Given the description of an element on the screen output the (x, y) to click on. 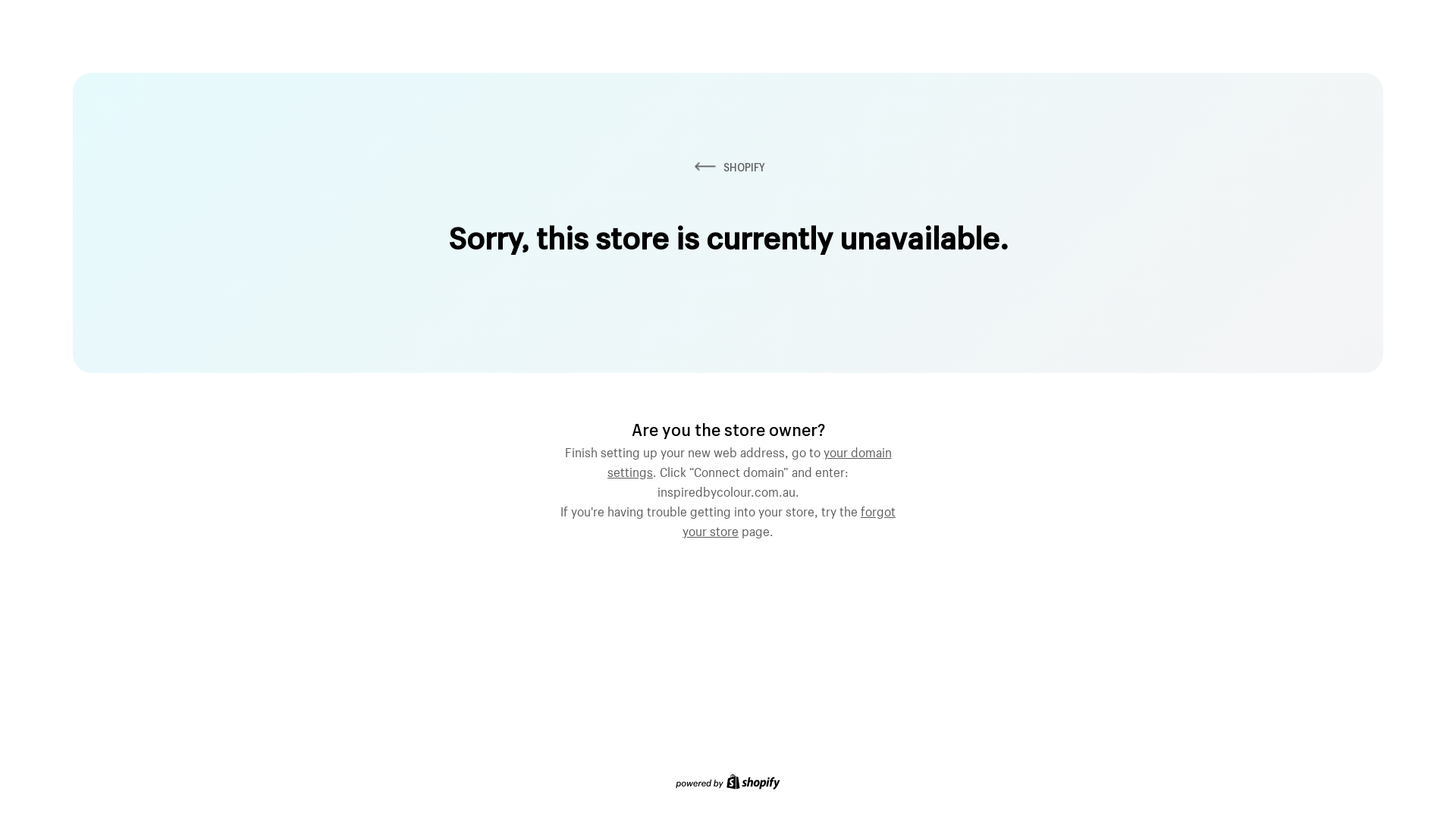
SHOPIFY Element type: text (727, 167)
your domain settings Element type: text (749, 460)
forgot your store Element type: text (788, 519)
